Given the description of an element on the screen output the (x, y) to click on. 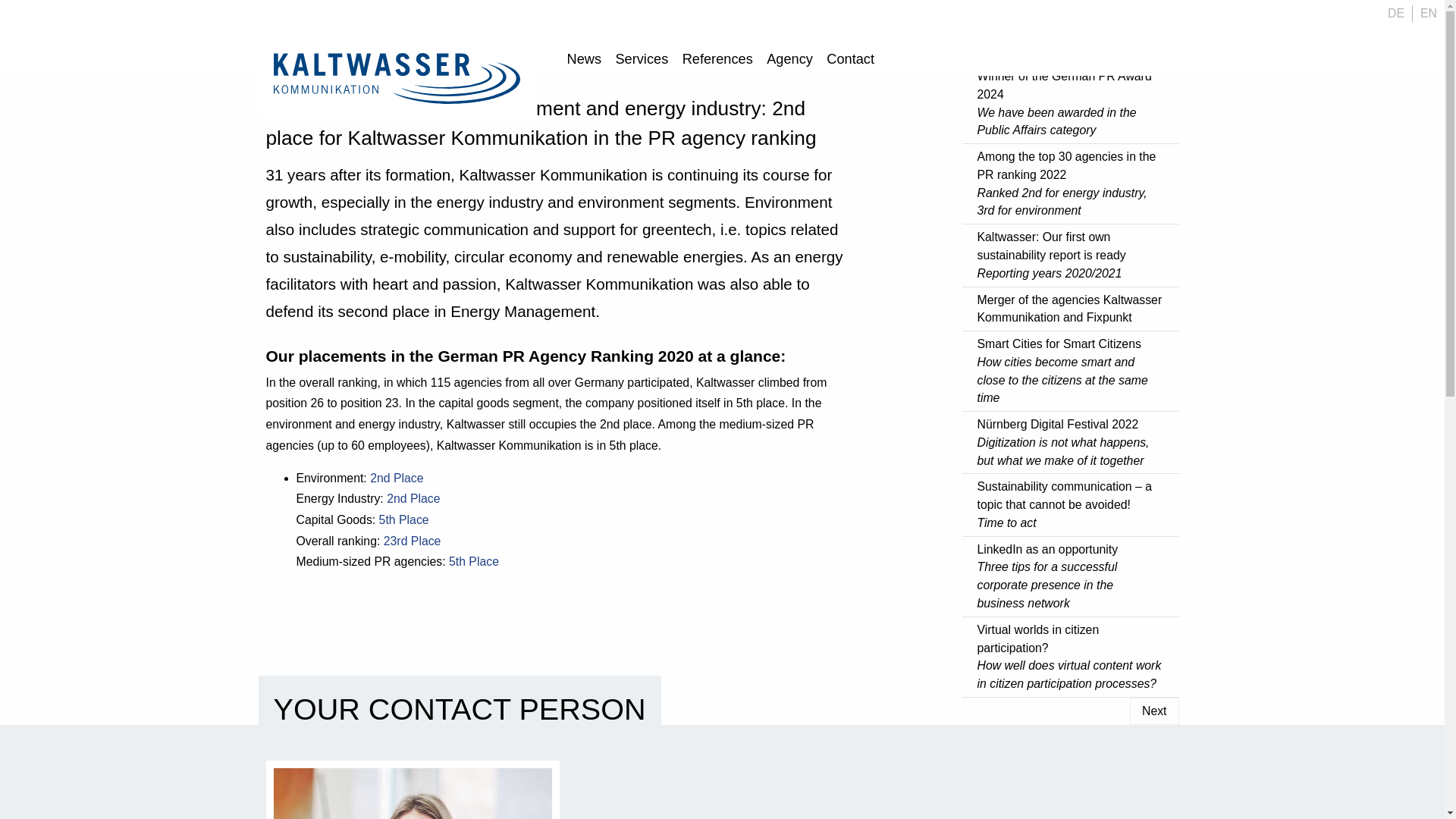
5th Place (403, 519)
Contact (850, 60)
News (583, 60)
Services (641, 60)
Services (641, 60)
DE (1396, 13)
News (583, 60)
Agency (789, 60)
2nd Place (397, 477)
5th Place (473, 561)
